Given the description of an element on the screen output the (x, y) to click on. 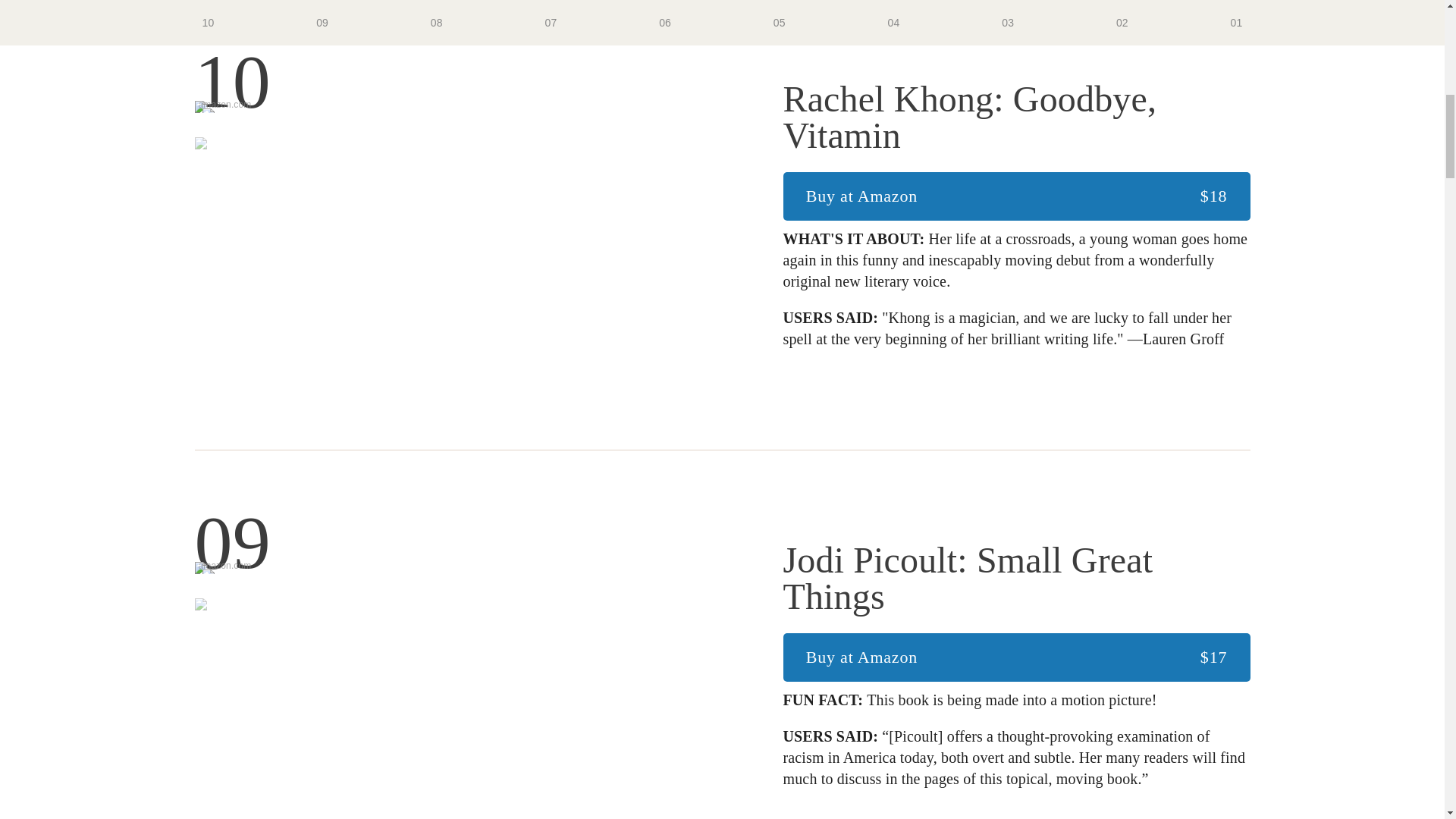
Rachel Khong: Goodbye, Vitamin (457, 551)
Jodi Picoult: Small Great Things (1016, 117)
